Given the description of an element on the screen output the (x, y) to click on. 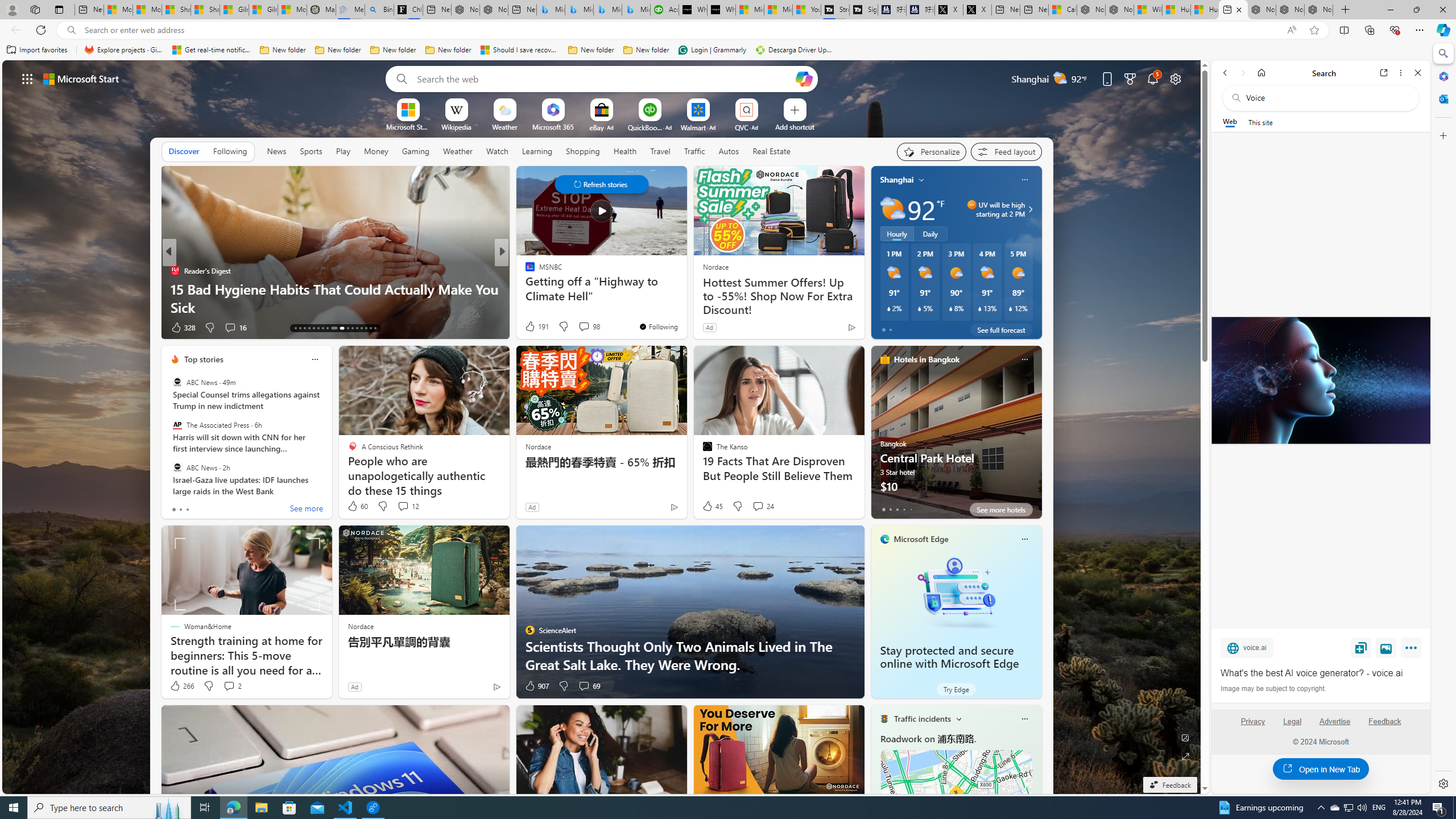
tab-0 (882, 509)
60 Like (357, 505)
Partly sunny (892, 208)
You're following MSNBC (657, 326)
View comments 16 Comment (234, 327)
Traffic (694, 151)
AutomationID: waffle (27, 78)
Personalize your feed" (931, 151)
Inc. (524, 270)
Gilma and Hector both pose tropical trouble for Hawaii (263, 9)
Gaming (415, 151)
Health (624, 151)
